Given the description of an element on the screen output the (x, y) to click on. 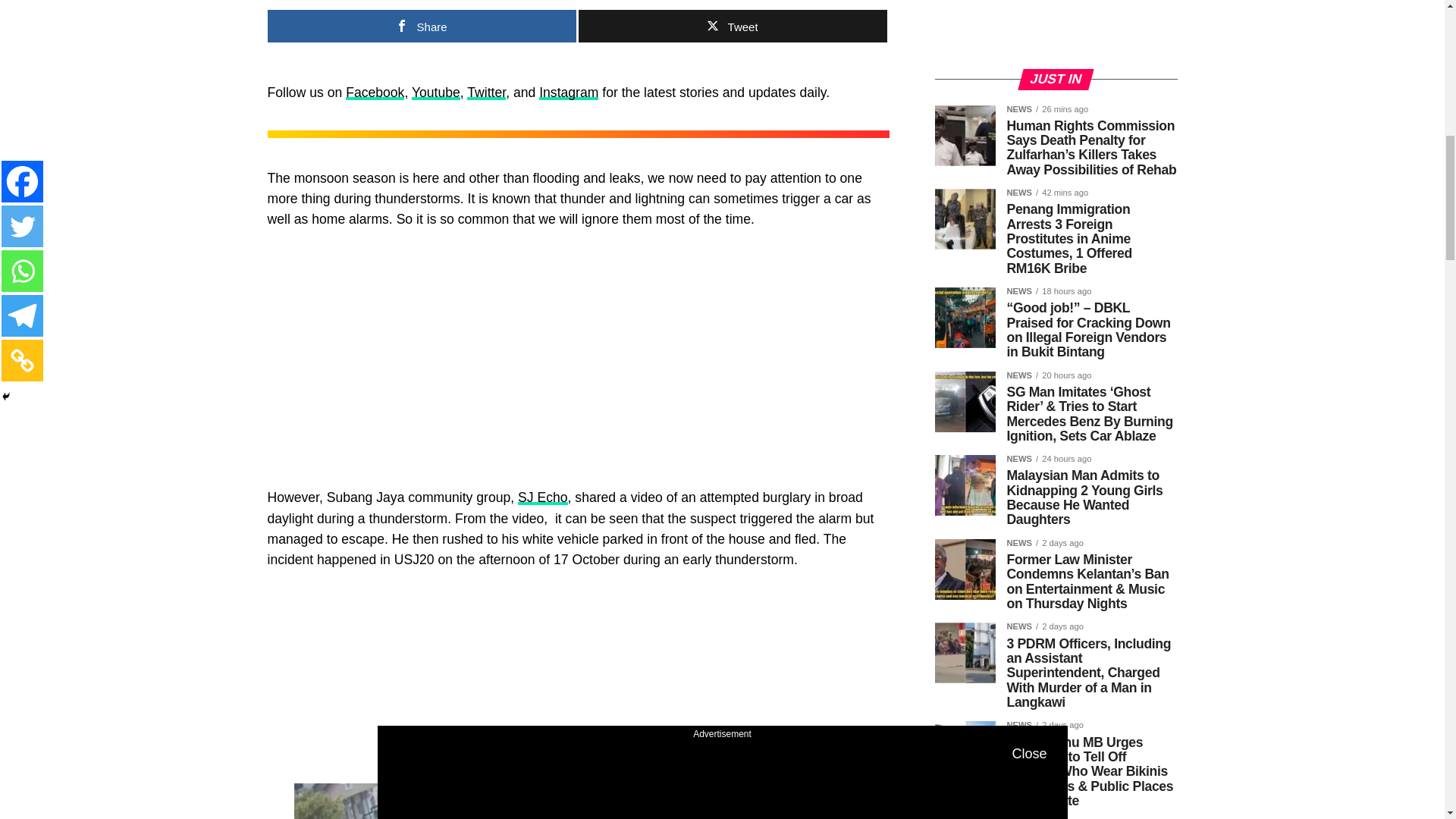
3rd party ad content (577, 354)
3rd party ad content (577, 680)
